Given the description of an element on the screen output the (x, y) to click on. 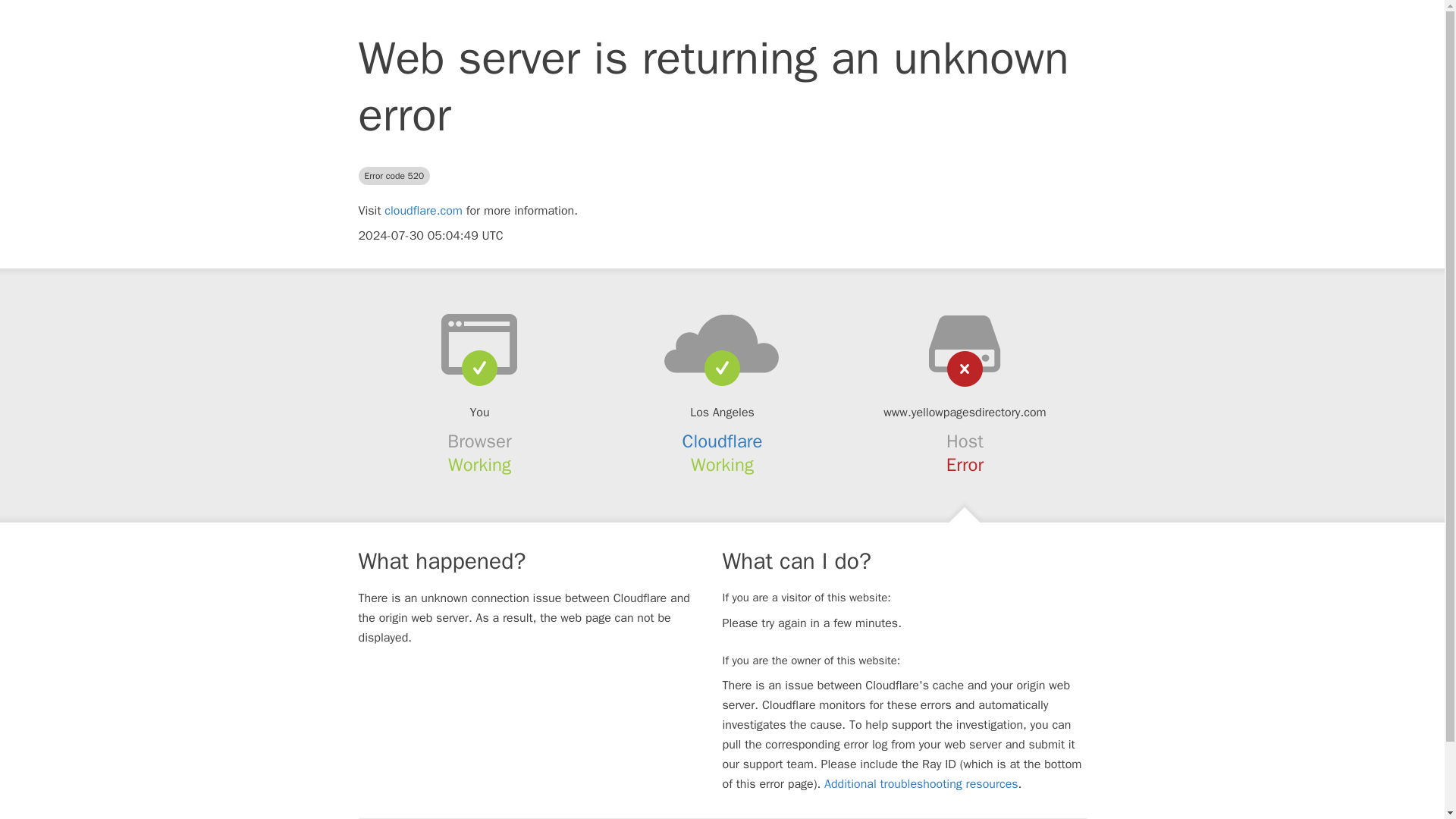
Cloudflare (722, 440)
cloudflare.com (423, 210)
Additional troubleshooting resources (920, 783)
